Given the description of an element on the screen output the (x, y) to click on. 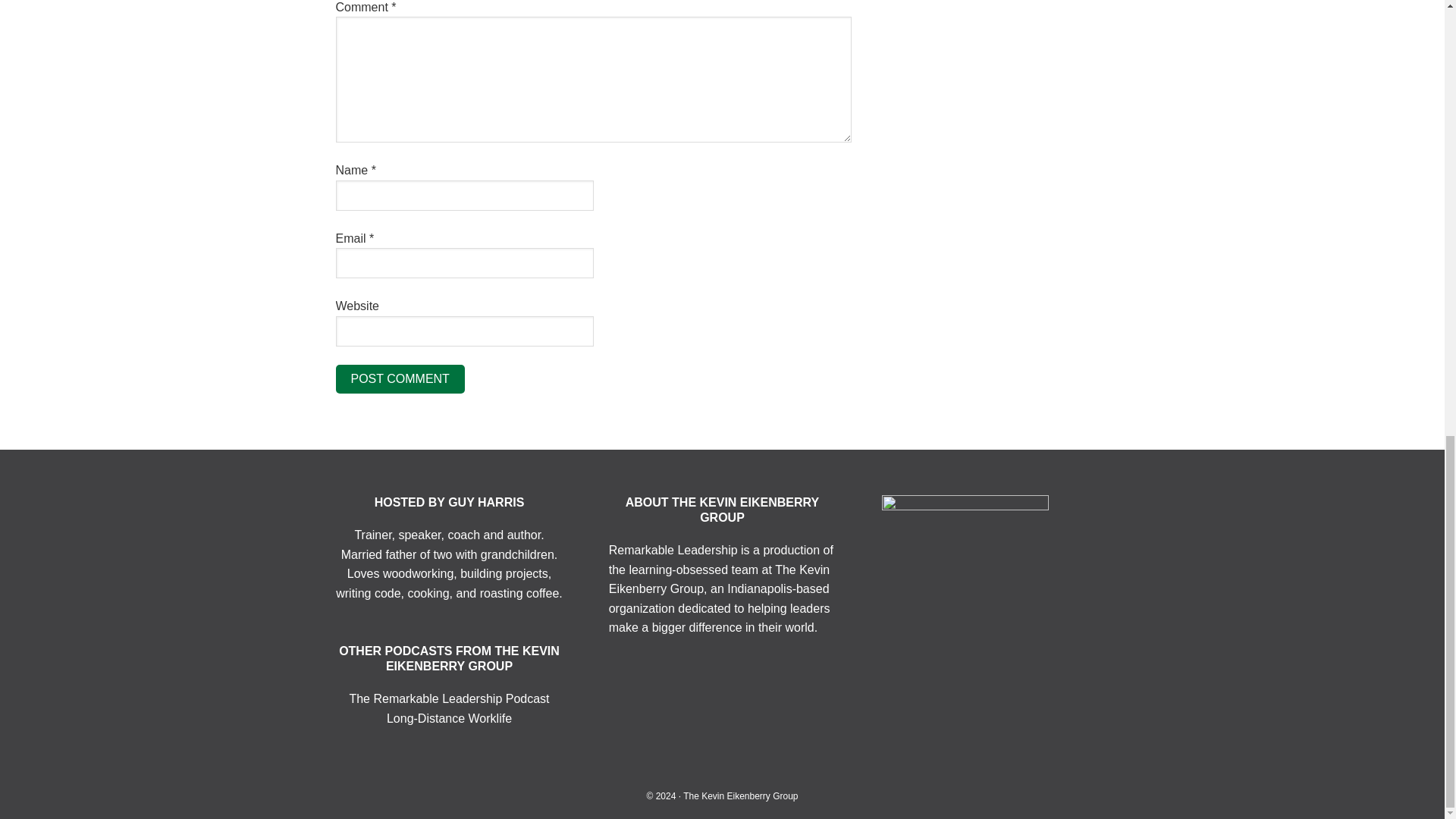
Post Comment (399, 378)
The Kevin Eikenberry Group (718, 579)
The Remarkable Leadership Podcast (448, 698)
Post Comment (399, 378)
The Kevin Eikenberry Group (739, 796)
Long-Distance Worklife (449, 717)
